Given the description of an element on the screen output the (x, y) to click on. 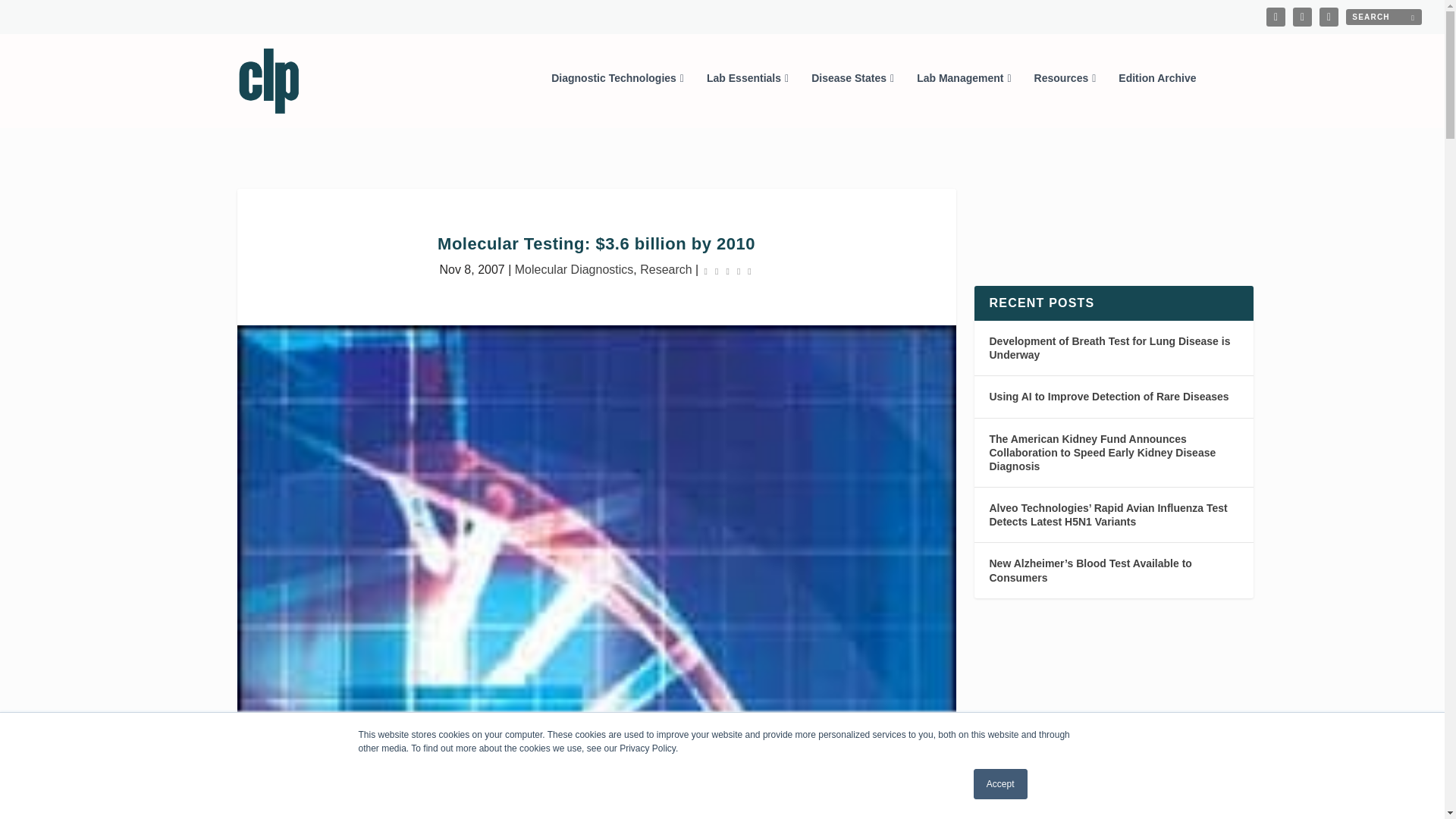
Lab Management (963, 99)
Accept (1000, 784)
Lab Essentials (747, 99)
Diagnostic Technologies (617, 99)
Rating: 0.00 (727, 270)
Disease States (851, 99)
Search for: (1383, 17)
